Given the description of an element on the screen output the (x, y) to click on. 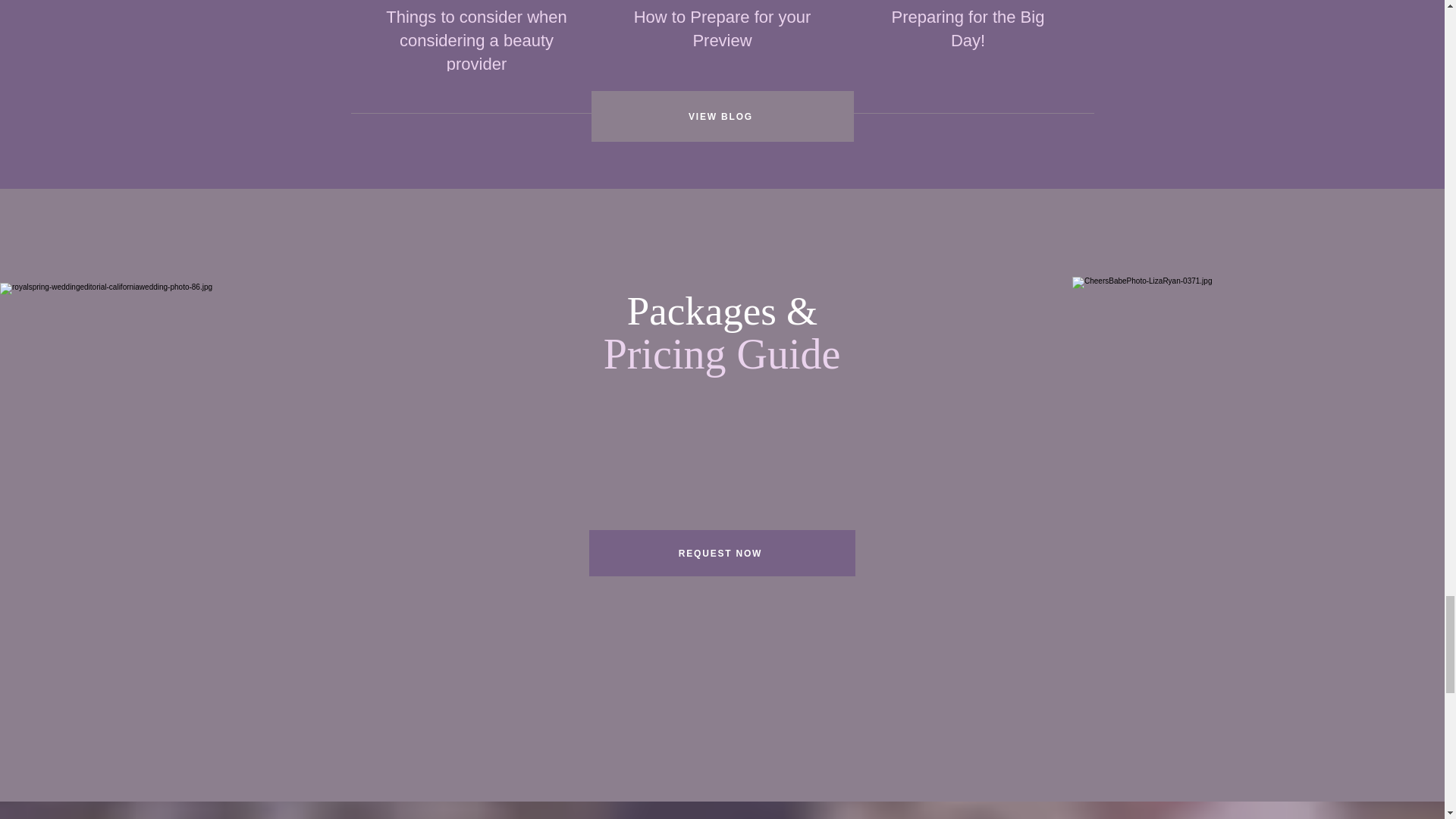
Things to consider when considering a beauty provider (477, 40)
VIEW BLOG (722, 115)
How to Prepare for your Preview (721, 29)
Preparing for the Big Day! (967, 29)
REQUEST NOW (721, 552)
